Given the description of an element on the screen output the (x, y) to click on. 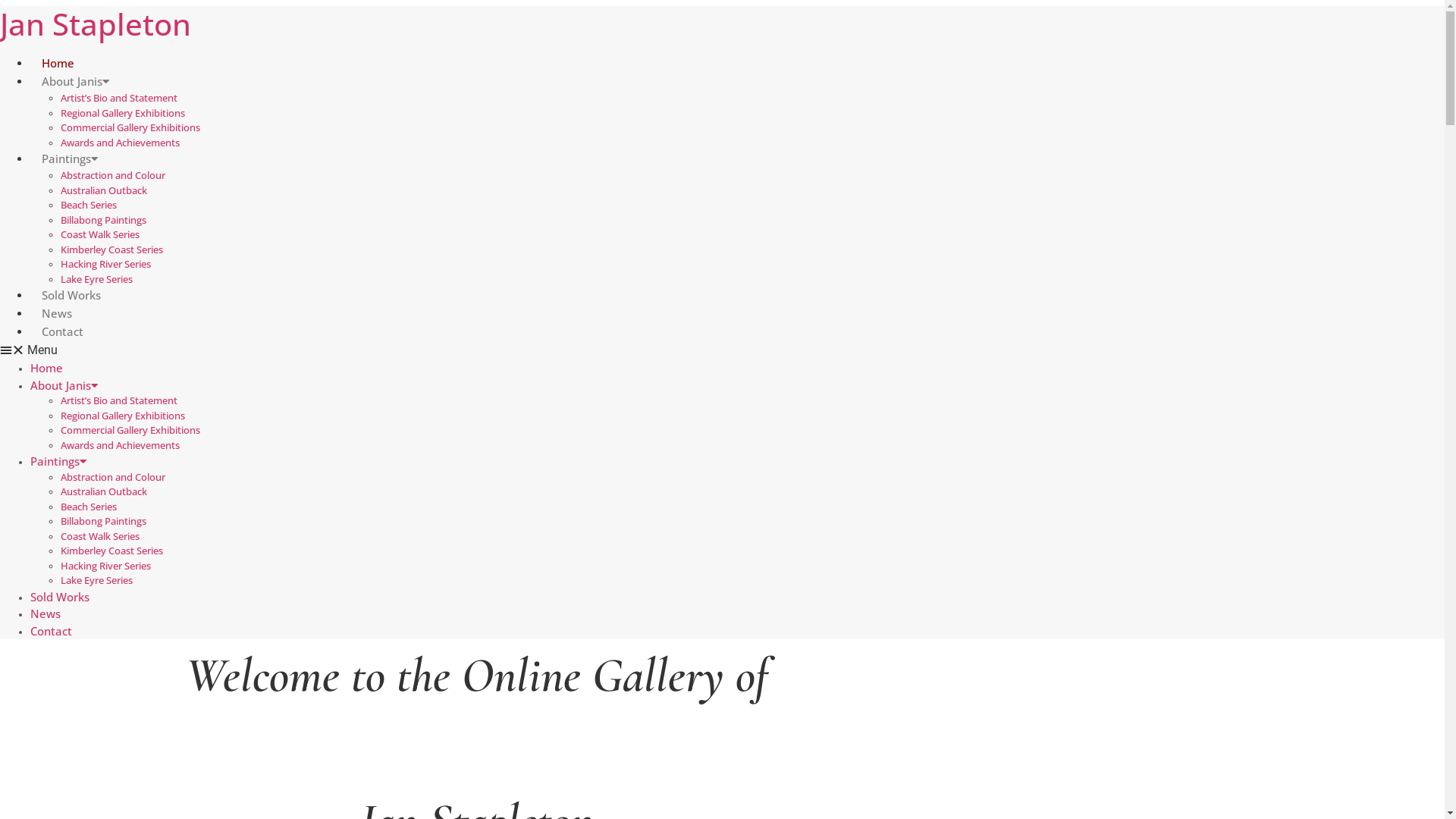
Awards and Achievements Element type: text (119, 444)
Billabong Paintings Element type: text (103, 520)
About Janis Element type: text (75, 80)
Hacking River Series Element type: text (105, 263)
Billabong Paintings Element type: text (103, 218)
Beach Series Element type: text (88, 505)
Lake Eyre Series Element type: text (96, 278)
Commercial Gallery Exhibitions Element type: text (130, 429)
Commercial Gallery Exhibitions Element type: text (130, 127)
Abstraction and Colour Element type: text (112, 476)
Abstraction and Colour Element type: text (112, 175)
Australian Outback Element type: text (103, 190)
Sold Works Element type: text (71, 294)
Paintings Element type: text (69, 158)
News Element type: text (56, 312)
Home Element type: text (57, 62)
Home Element type: text (46, 367)
Regional Gallery Exhibitions Element type: text (122, 112)
Beach Series Element type: text (88, 204)
Kimberley Coast Series Element type: text (111, 249)
Contact Element type: text (62, 330)
Awards and Achievements Element type: text (119, 141)
About Janis Element type: text (63, 384)
Kimberley Coast Series Element type: text (111, 550)
Lake Eyre Series Element type: text (96, 579)
News Element type: text (45, 613)
Paintings Element type: text (58, 460)
Hacking River Series Element type: text (105, 564)
Coast Walk Series Element type: text (99, 535)
Australian Outback Element type: text (103, 491)
Jan Stapleton Element type: text (95, 23)
Coast Walk Series Element type: text (99, 234)
Contact Element type: text (51, 630)
Sold Works Element type: text (59, 595)
Regional Gallery Exhibitions Element type: text (122, 414)
